Given the description of an element on the screen output the (x, y) to click on. 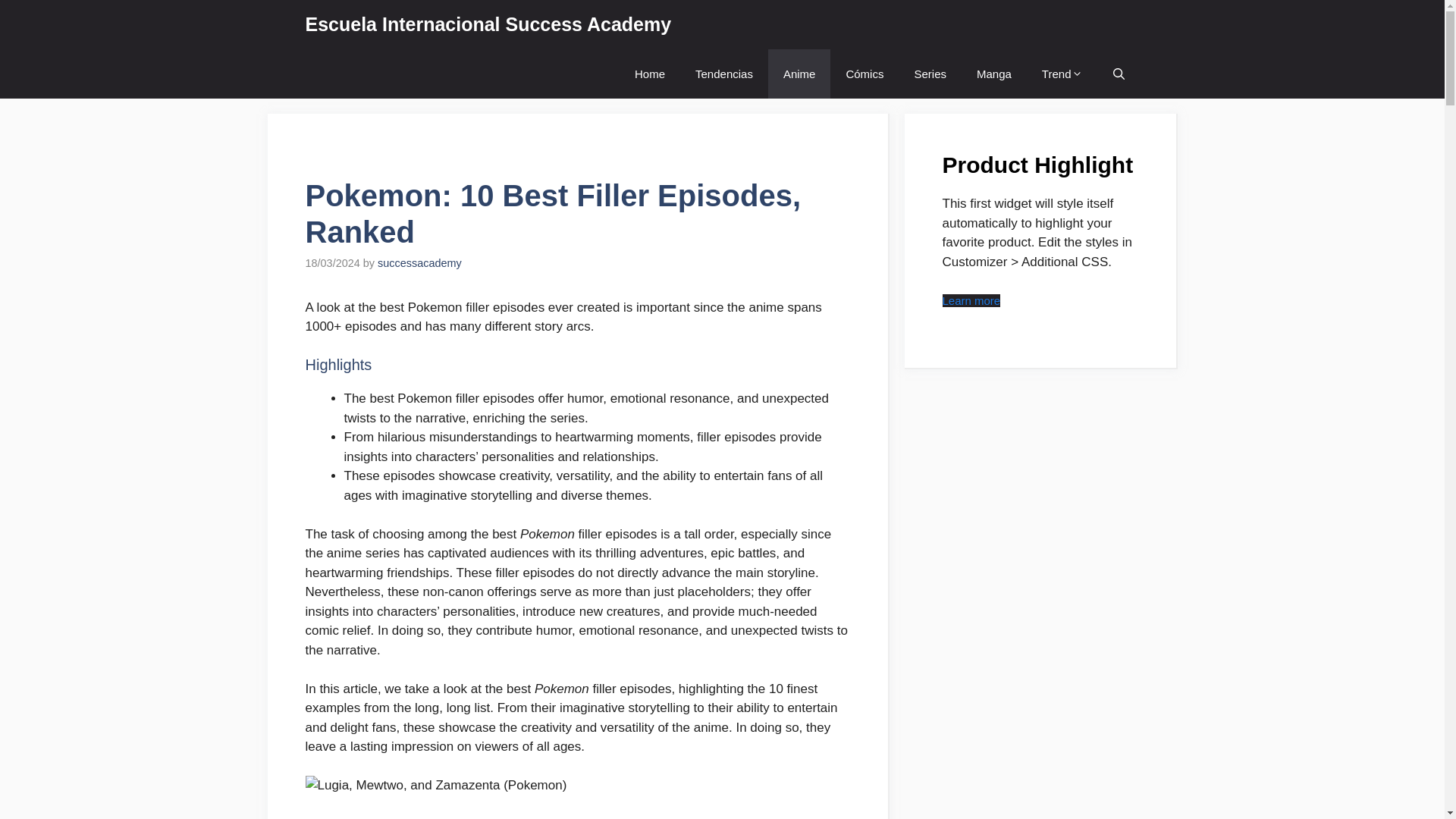
Series (929, 73)
View all posts by successacademy (419, 263)
Learn more (971, 300)
Manga (993, 73)
Escuela Internacional Success Academy (487, 24)
Trend (1061, 73)
Home (649, 73)
Anime (799, 73)
Tendencias (723, 73)
successacademy (419, 263)
